Given the description of an element on the screen output the (x, y) to click on. 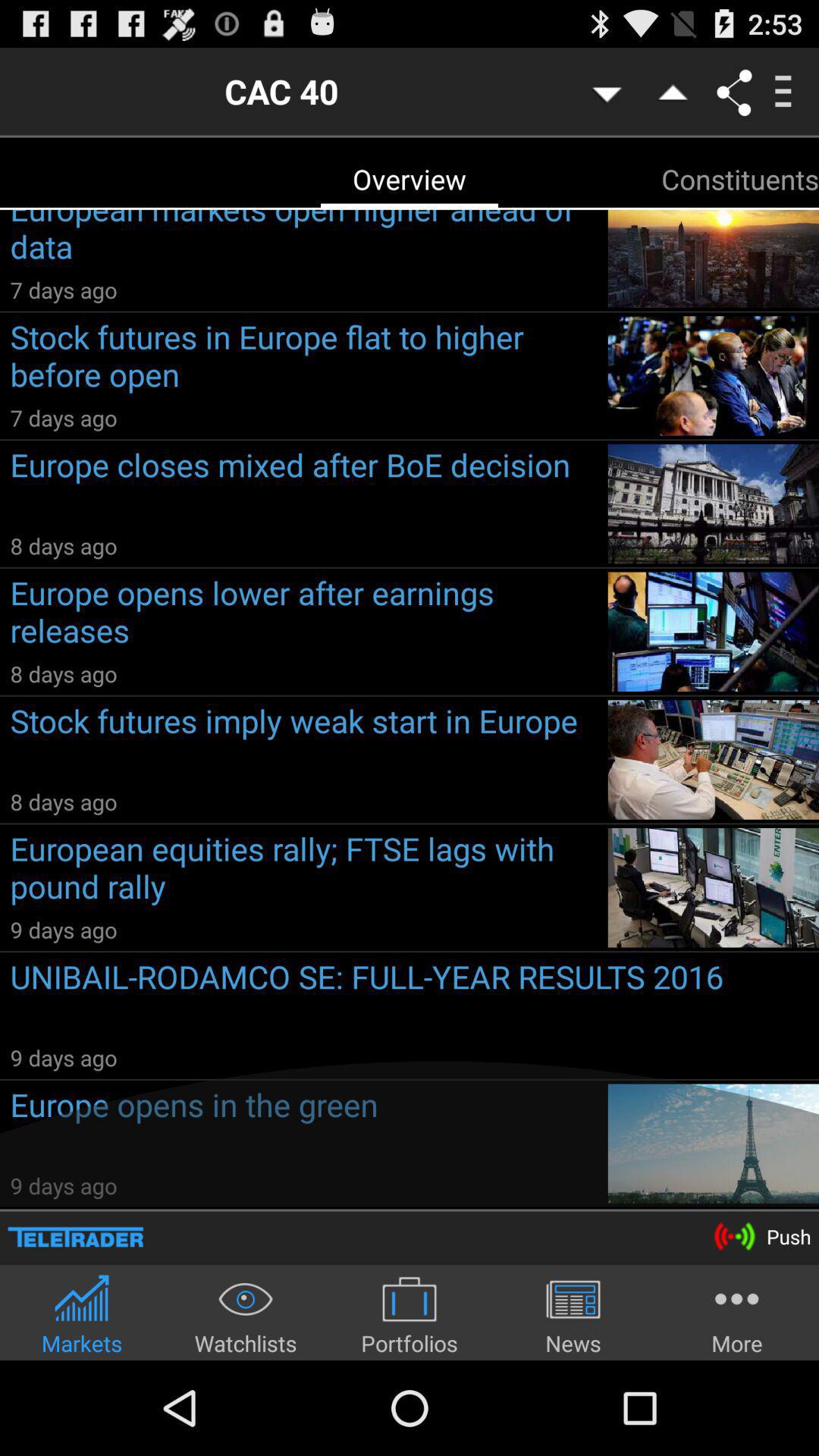
choose the app to the right of the european markets open item (740, 178)
